Given the description of an element on the screen output the (x, y) to click on. 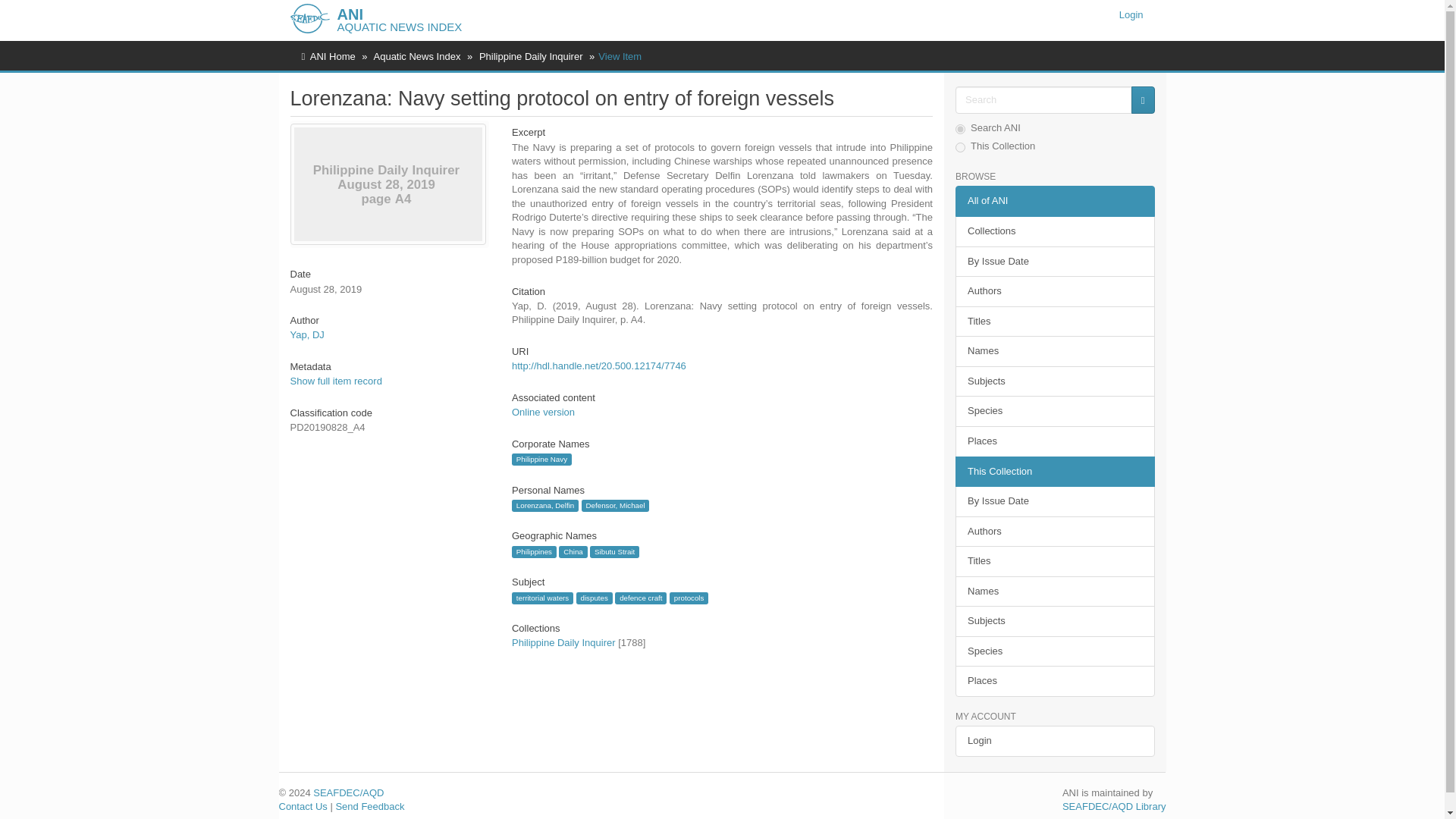
By Issue Date (1054, 261)
protocols (688, 598)
defence craft (640, 598)
Philippine Daily Inquirer (563, 642)
territorial waters (542, 598)
Defensor, Michael (614, 505)
Philippine Daily Inquirer (531, 56)
Yap, DJ (306, 334)
Login (1131, 15)
disputes (594, 598)
